Given the description of an element on the screen output the (x, y) to click on. 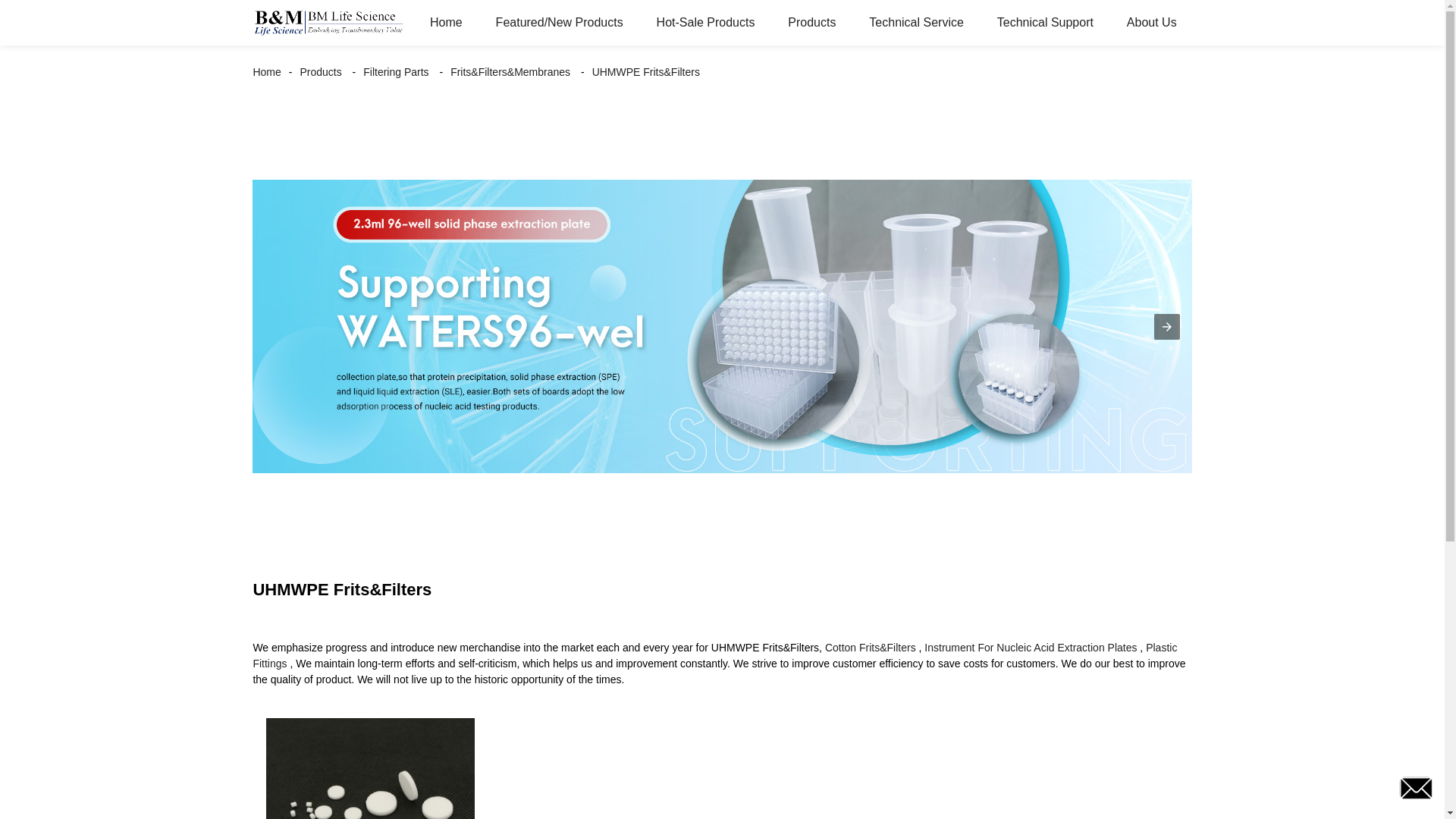
Hot-Sale Products (706, 22)
Filtering Parts (395, 71)
Products (811, 22)
Products (320, 71)
Instrument For Nucleic Acid Extraction Plates (1030, 647)
Plastic Fittings (713, 655)
Home (445, 22)
